Given the description of an element on the screen output the (x, y) to click on. 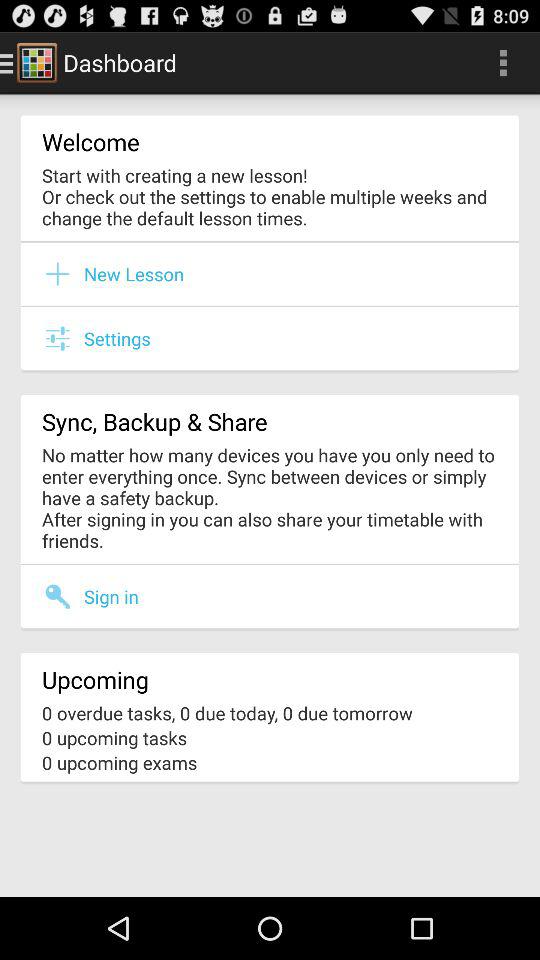
open the app to the right of dashboard (503, 62)
